Given the description of an element on the screen output the (x, y) to click on. 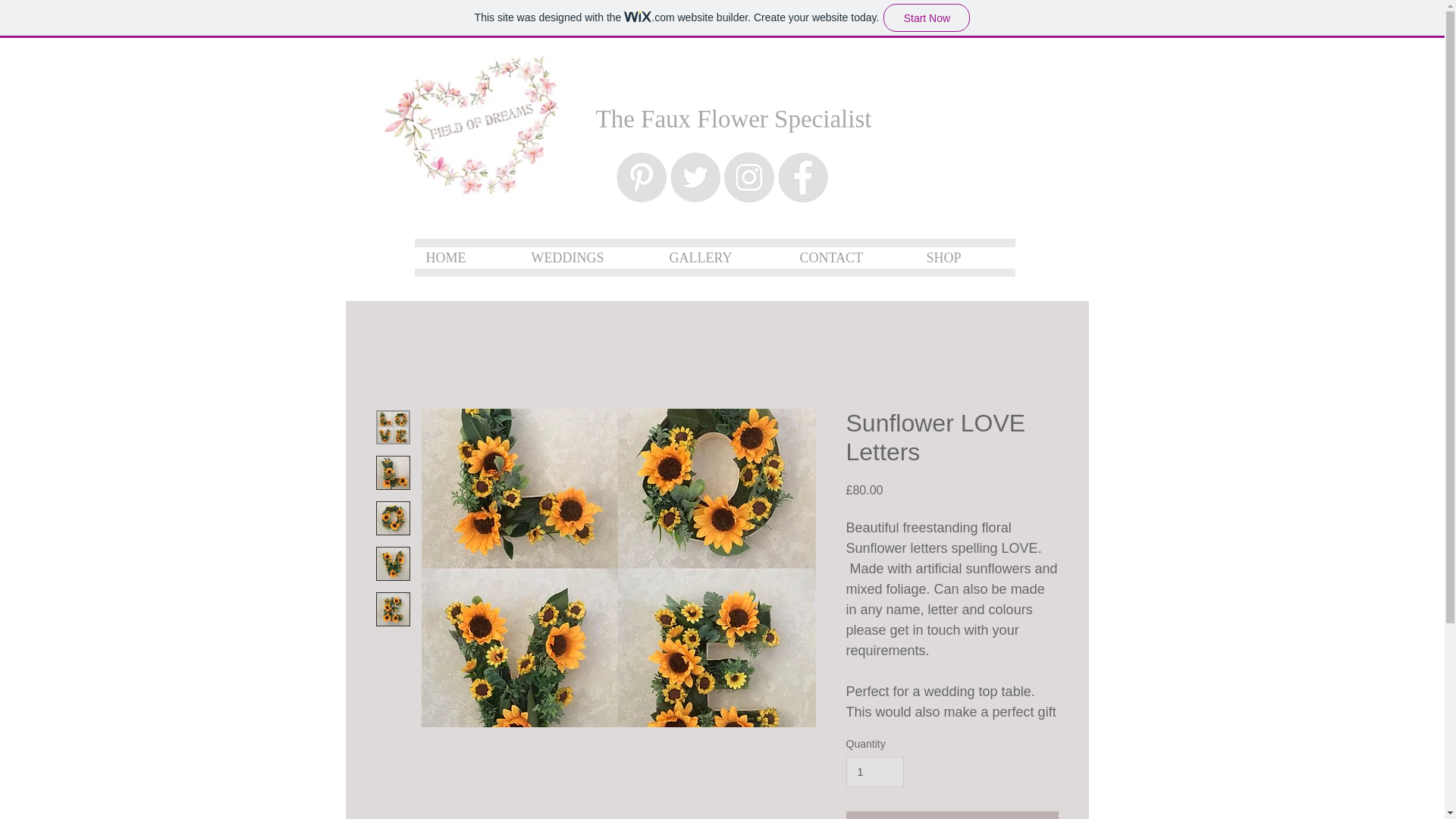
GALLERY (723, 257)
SHOP (964, 257)
1 (874, 771)
CONTACT (852, 257)
WEDDINGS (588, 257)
HOME (466, 257)
Add to Cart (951, 815)
